Given the description of an element on the screen output the (x, y) to click on. 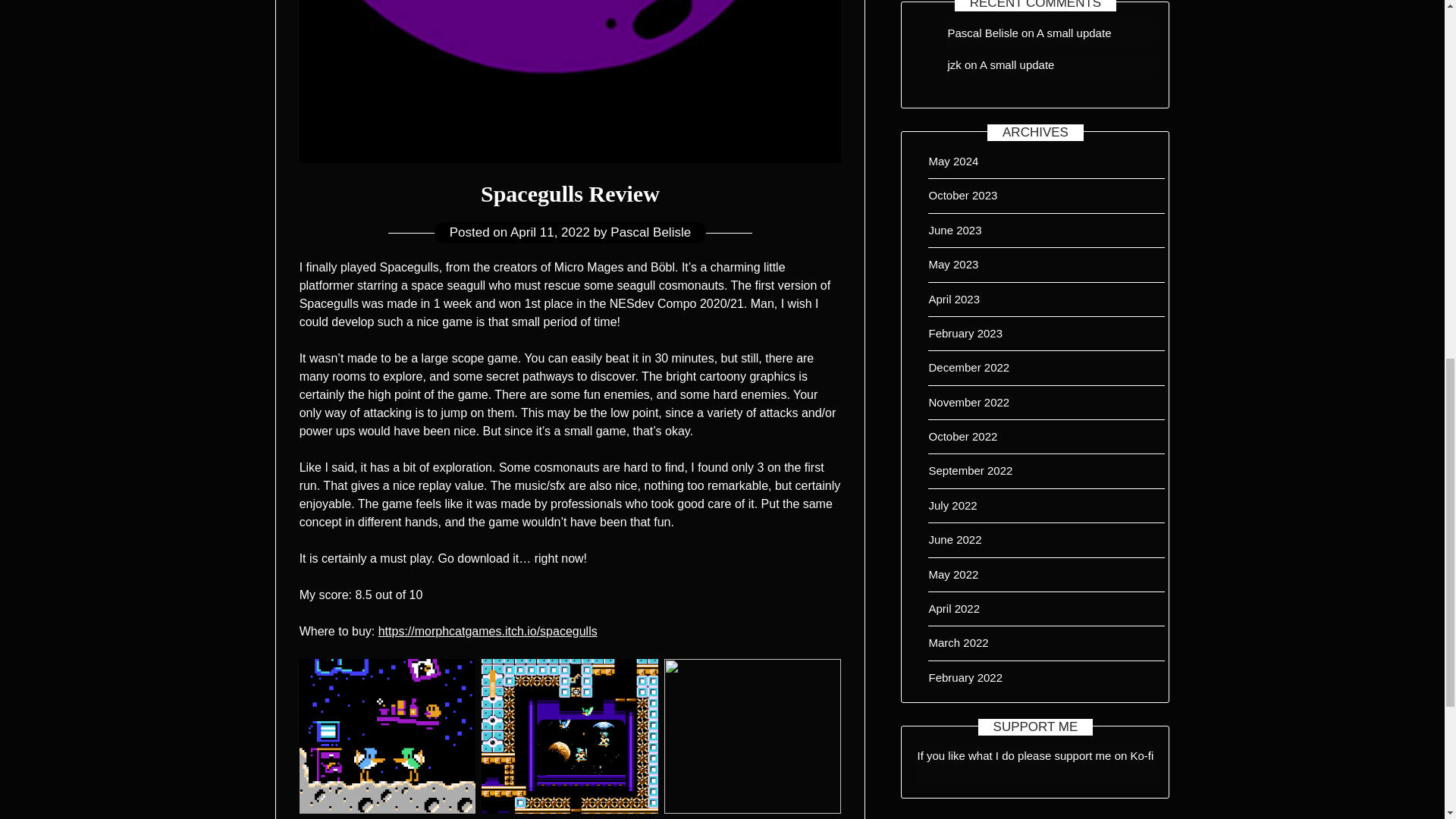
A small update (1073, 32)
October 2022 (962, 436)
May 2023 (953, 264)
February 2023 (965, 332)
April 11, 2022 (550, 232)
July 2022 (952, 504)
June 2023 (954, 229)
June 2022 (954, 539)
May 2024 (953, 160)
November 2022 (968, 401)
Pascal Belisle (982, 32)
December 2022 (968, 367)
March 2022 (958, 642)
April 2023 (953, 298)
Pascal Belisle (650, 232)
